Given the description of an element on the screen output the (x, y) to click on. 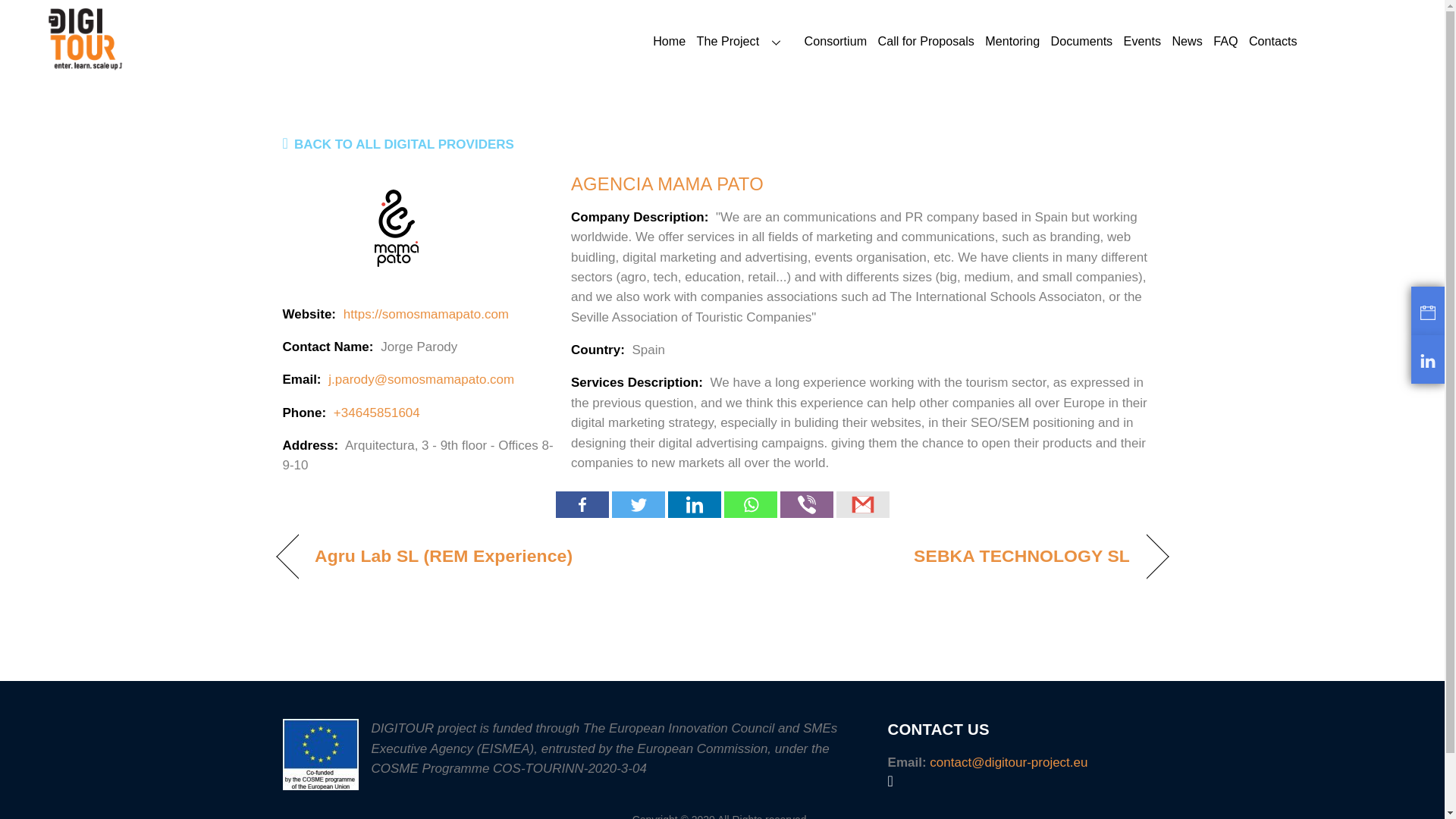
Home (668, 41)
Events (1142, 41)
Linkedin (693, 504)
DIGITOUR (85, 66)
BACK TO ALL DIGITAL PROVIDERS (397, 144)
Twitter (637, 504)
Google Gmail (861, 504)
Contacts (1273, 41)
Consortium (836, 41)
The Project (745, 41)
Documents (1082, 41)
Mentoring (1012, 41)
Whatsapp (749, 504)
Facebook (581, 504)
